Given the description of an element on the screen output the (x, y) to click on. 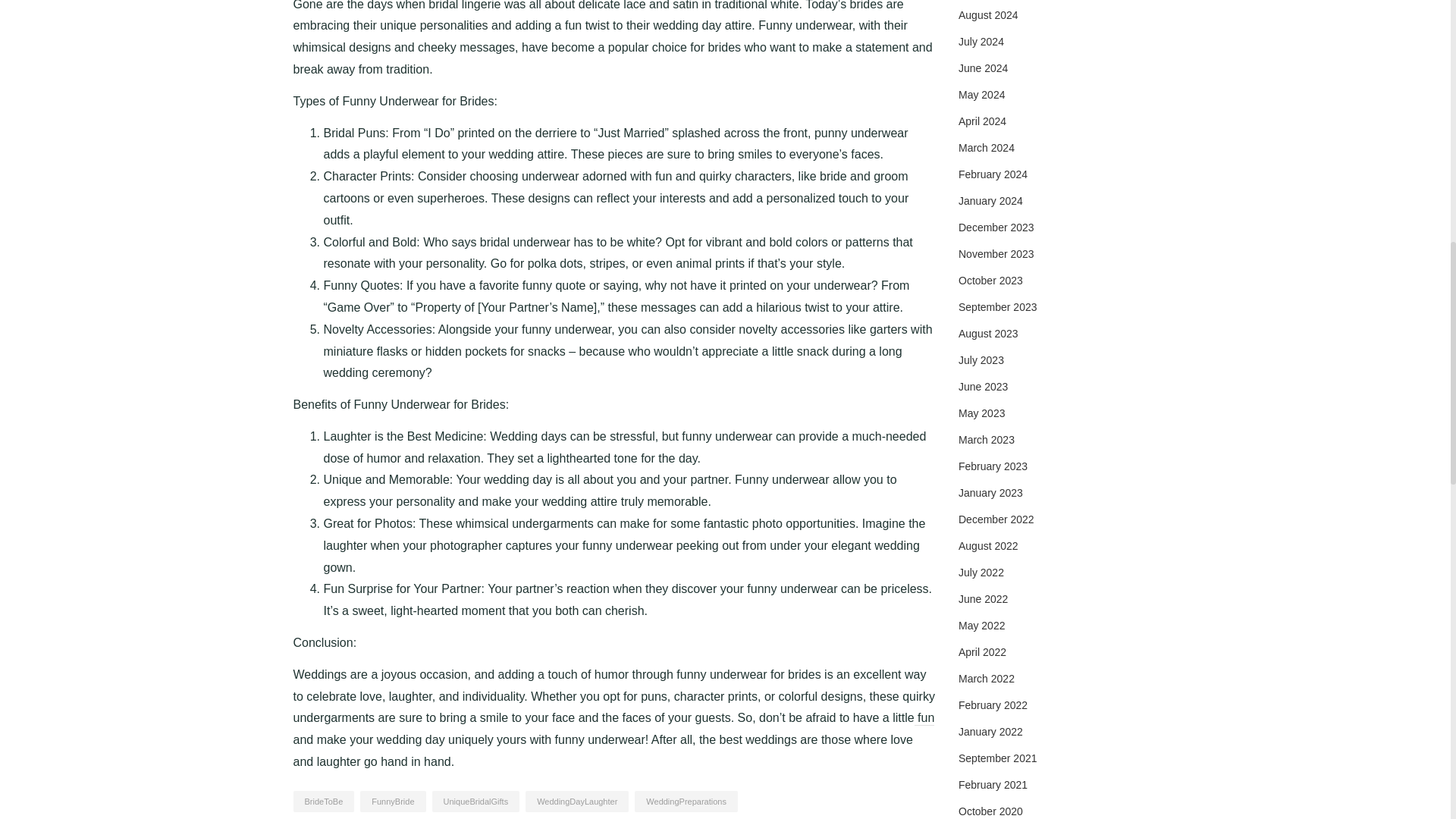
October 2023 (990, 280)
November 2023 (995, 254)
June 2024 (982, 68)
January 2024 (990, 200)
FunnyBride (392, 801)
December 2023 (995, 227)
WeddingDayLaughter (576, 801)
WeddingPreparations (686, 801)
May 2024 (981, 94)
April 2024 (982, 121)
